Given the description of an element on the screen output the (x, y) to click on. 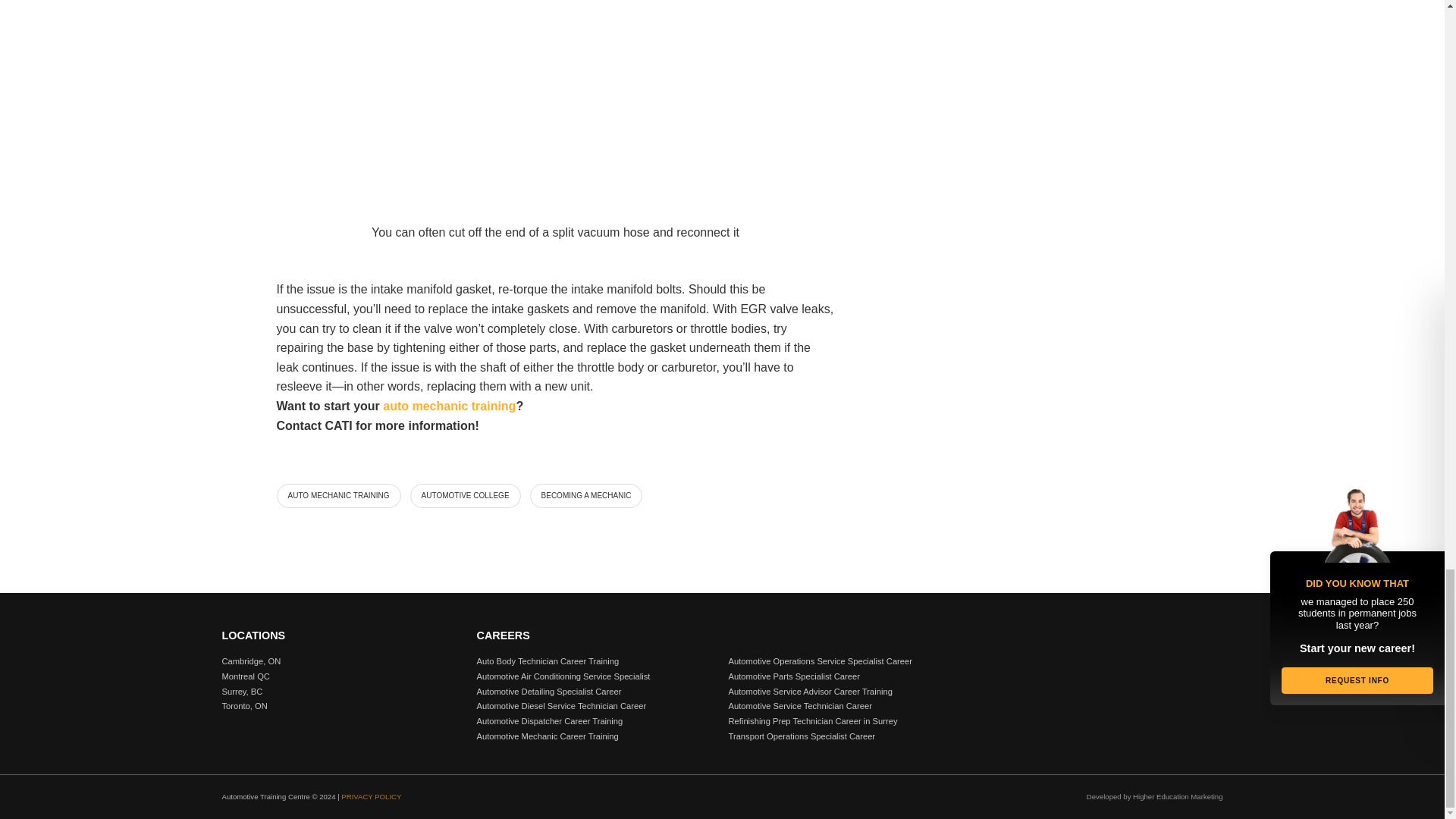
auto mechanic training (448, 405)
BECOMING A MECHANIC (586, 495)
AUTO MECHANIC TRAINING (338, 495)
AUTOMOTIVE COLLEGE (465, 495)
